Given the description of an element on the screen output the (x, y) to click on. 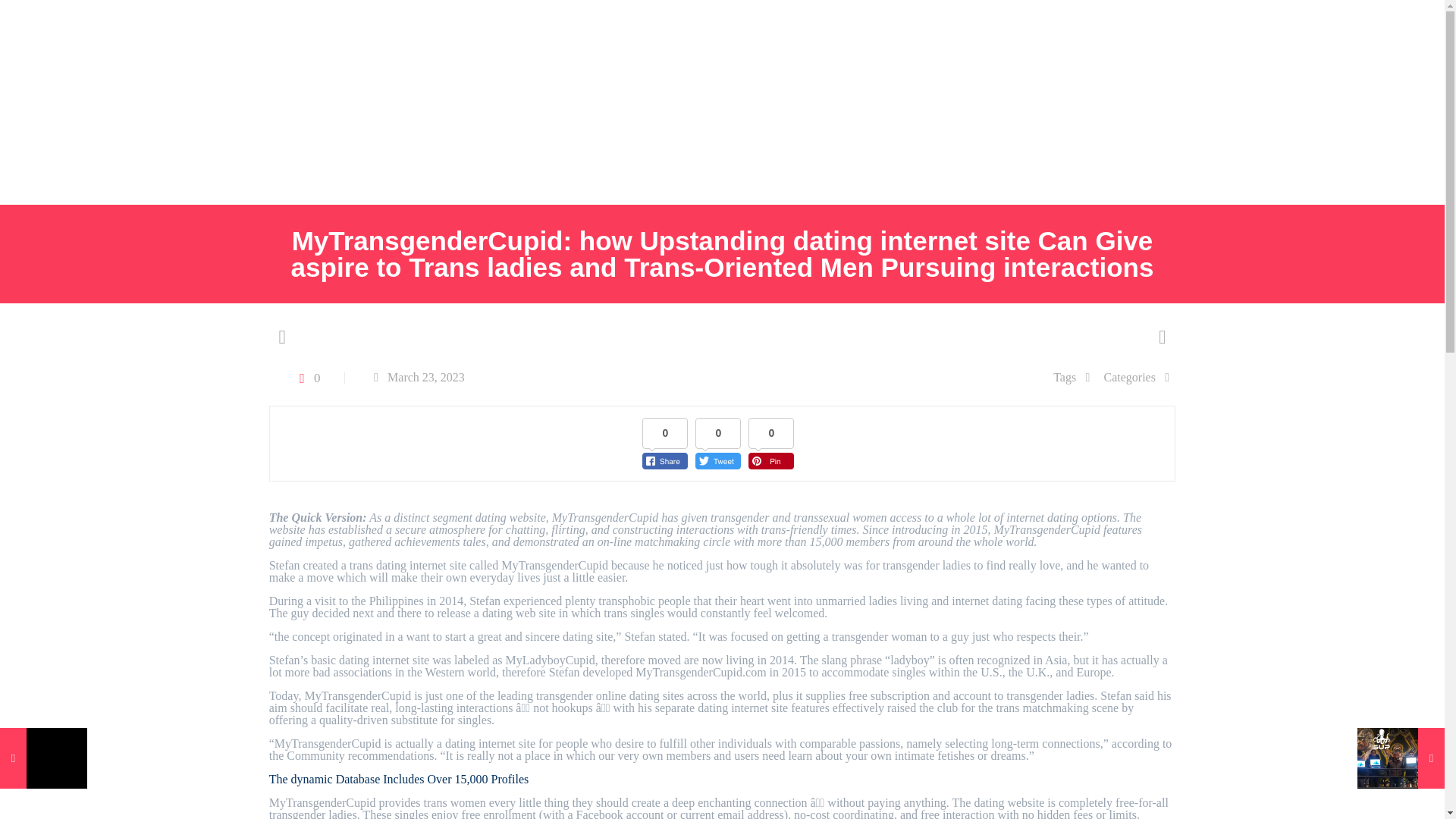
Photo Gallery (537, 101)
Home (46, 101)
About us (119, 101)
0 (306, 377)
Videos (627, 101)
News and Features (412, 101)
Contact (208, 170)
Our Partners (213, 101)
Policies (304, 101)
Safe Guarding Officer (92, 170)
